Given the description of an element on the screen output the (x, y) to click on. 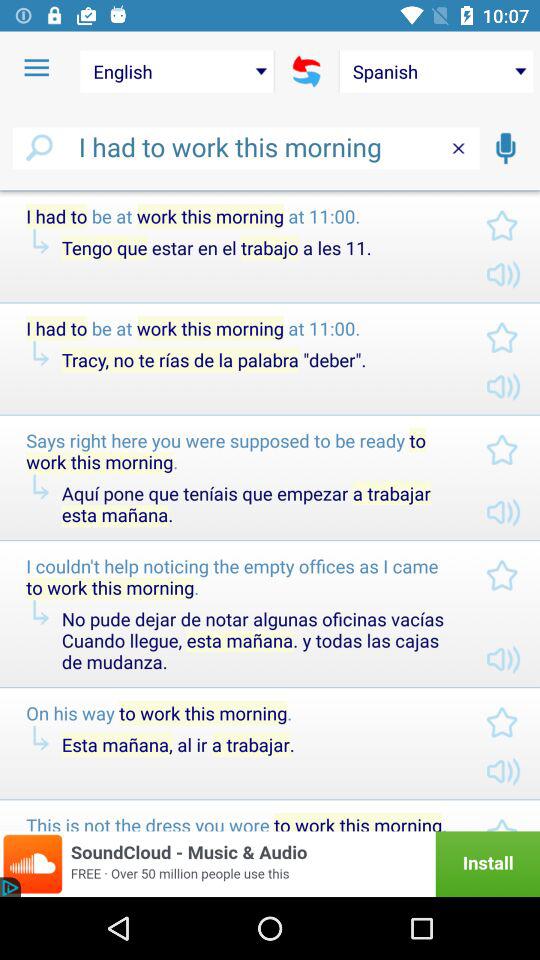
vocal speaking function (505, 148)
